Given the description of an element on the screen output the (x, y) to click on. 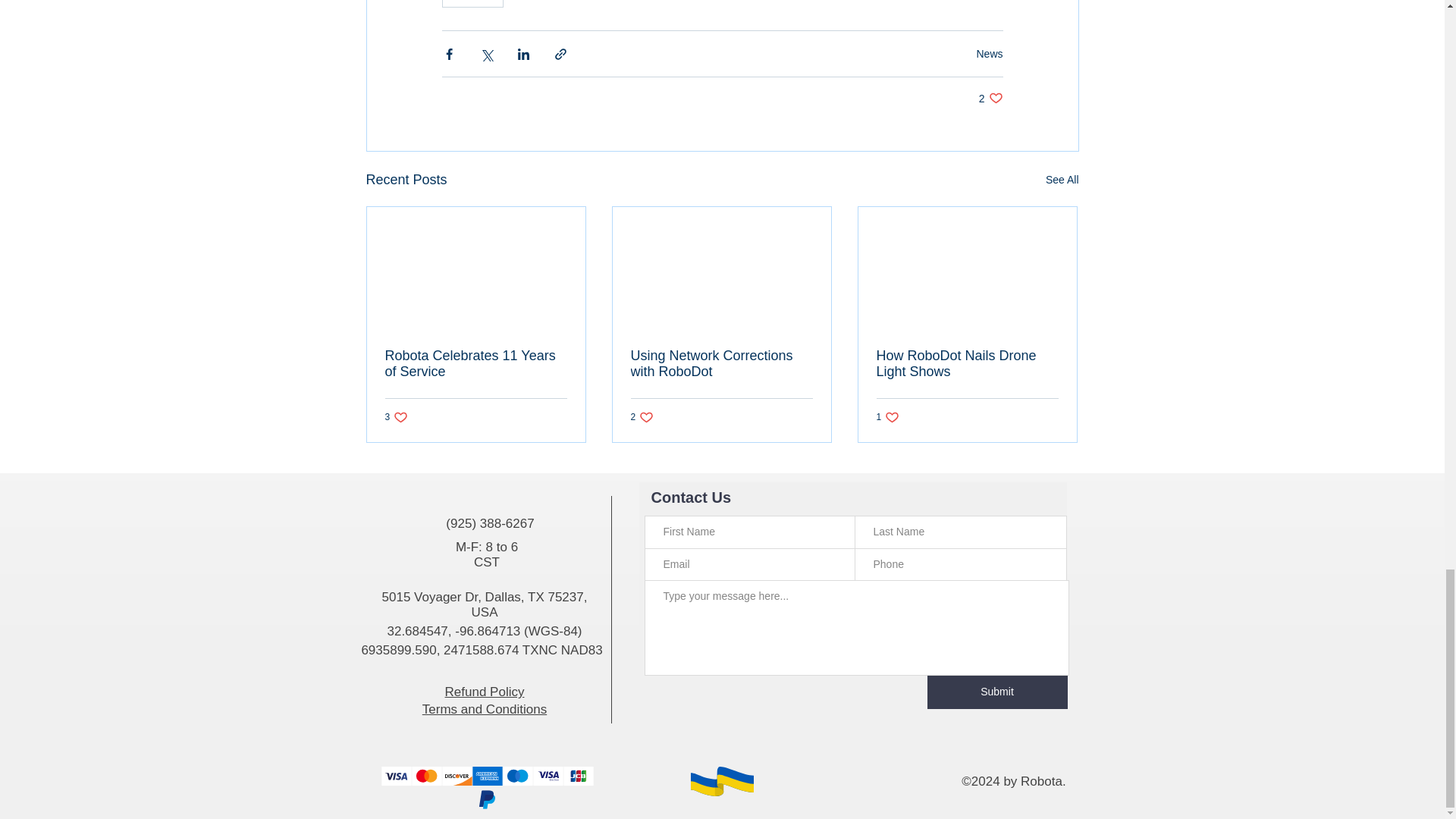
RoboDot (471, 3)
Refund Policy (484, 691)
See All (990, 97)
Using Network Corrections with RoboDot (641, 417)
News (397, 417)
How RoboDot Nails Drone Light Shows (1061, 179)
